Given the description of an element on the screen output the (x, y) to click on. 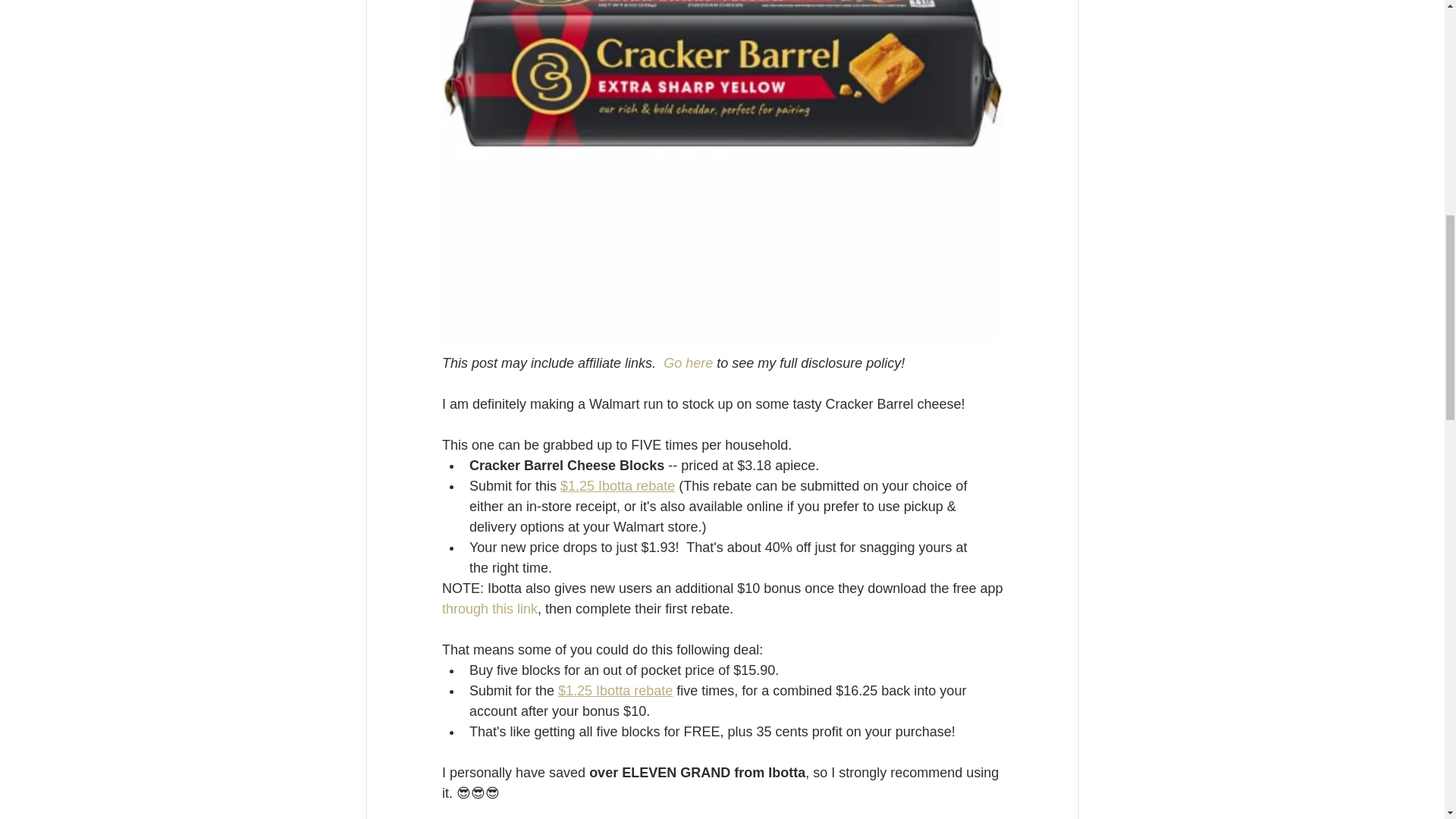
Go here (688, 363)
through this link (489, 608)
